Given the description of an element on the screen output the (x, y) to click on. 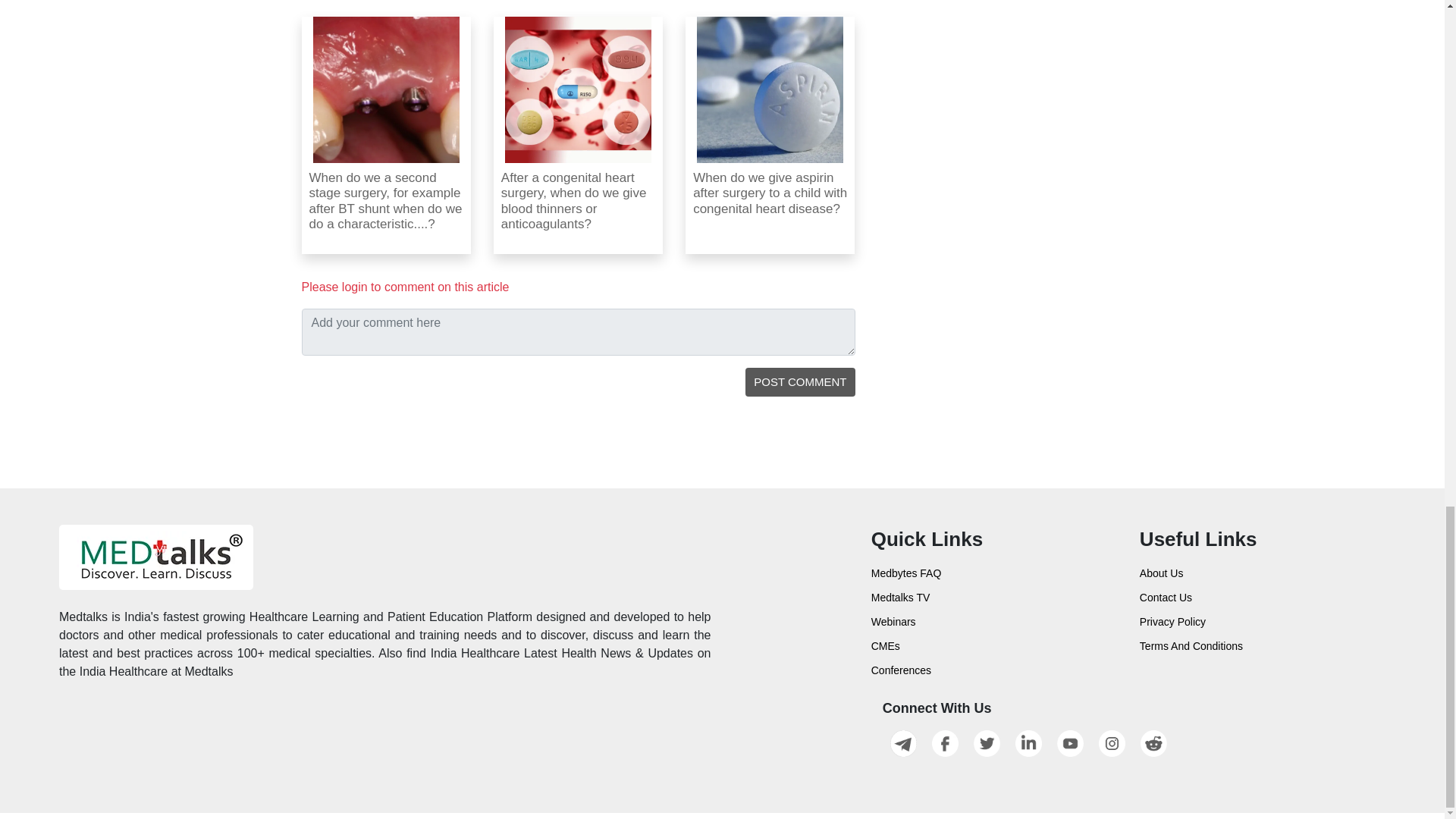
POST COMMENT (799, 382)
